Given the description of an element on the screen output the (x, y) to click on. 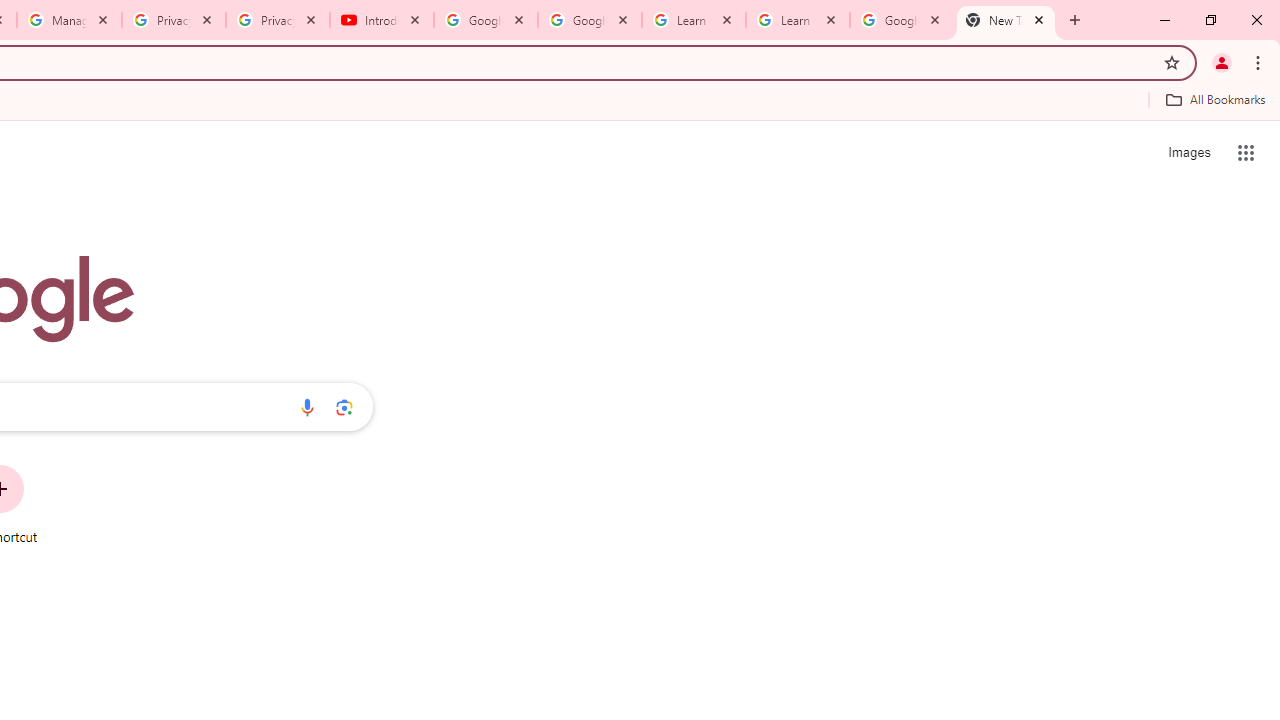
New Tab (1005, 20)
Google Account Help (485, 20)
